Given the description of an element on the screen output the (x, y) to click on. 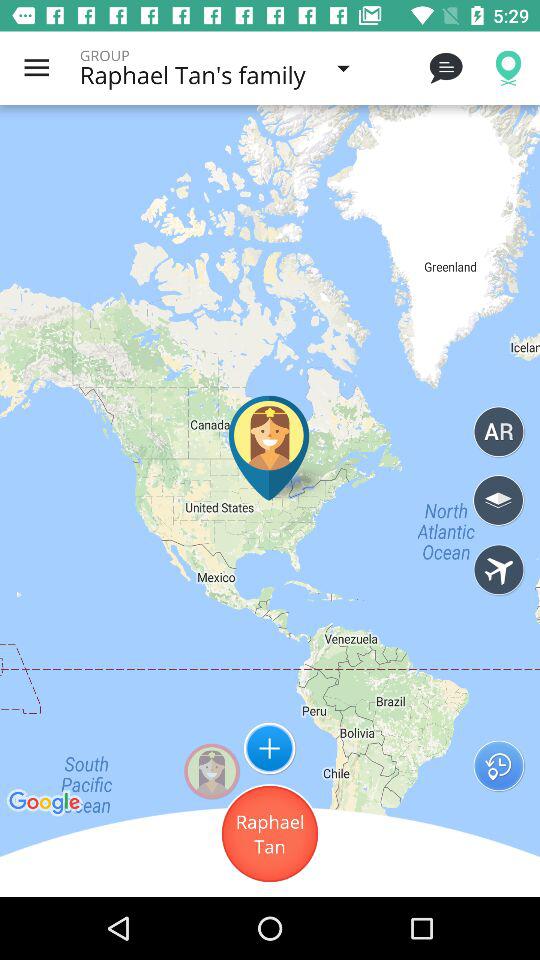
launch the icon next to raphael tan (498, 765)
